Given the description of an element on the screen output the (x, y) to click on. 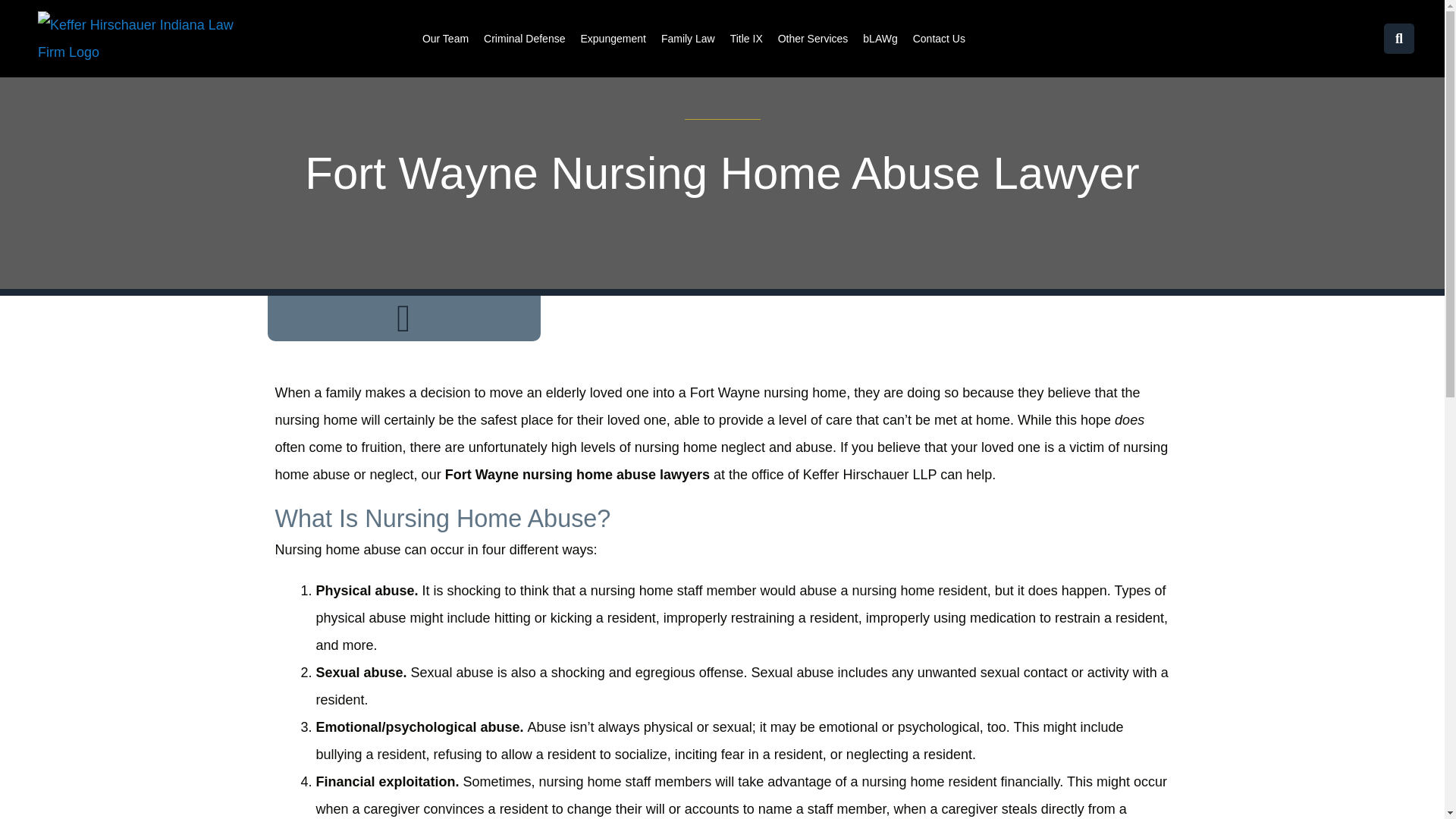
Contact Us (938, 38)
bLAWg (879, 38)
Our Team (445, 38)
Family Law (687, 38)
Expungement (612, 38)
Criminal Defense (523, 38)
Title IX (746, 38)
Other Services (812, 38)
